Given the description of an element on the screen output the (x, y) to click on. 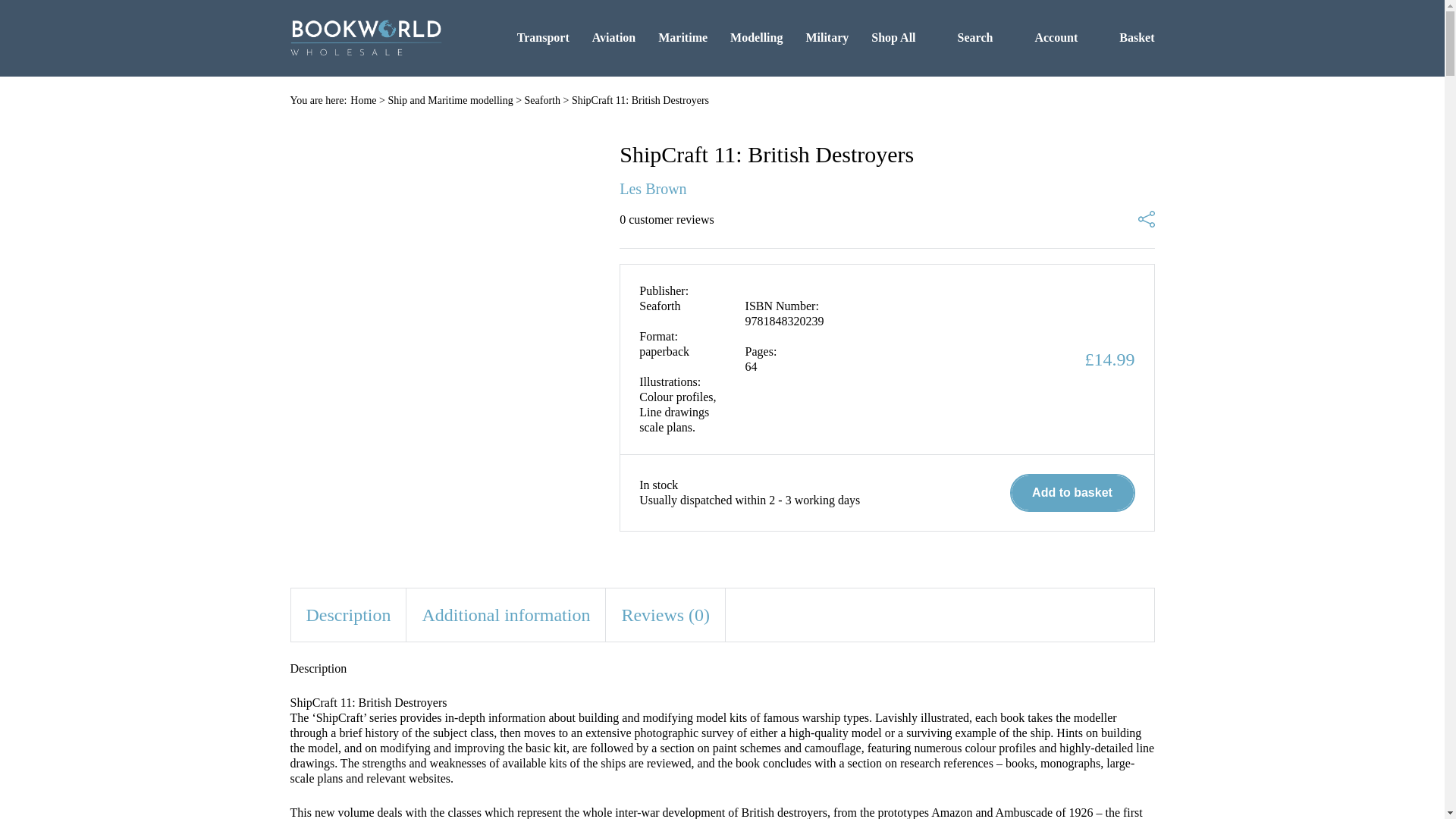
Military (826, 37)
Ship and Maritime modelling (449, 100)
Modelling (756, 37)
Shop All (892, 37)
Description (349, 614)
Basket (1127, 37)
Account (1045, 37)
Additional information (505, 614)
Aviation (613, 37)
Seaforth (542, 100)
